Given the description of an element on the screen output the (x, y) to click on. 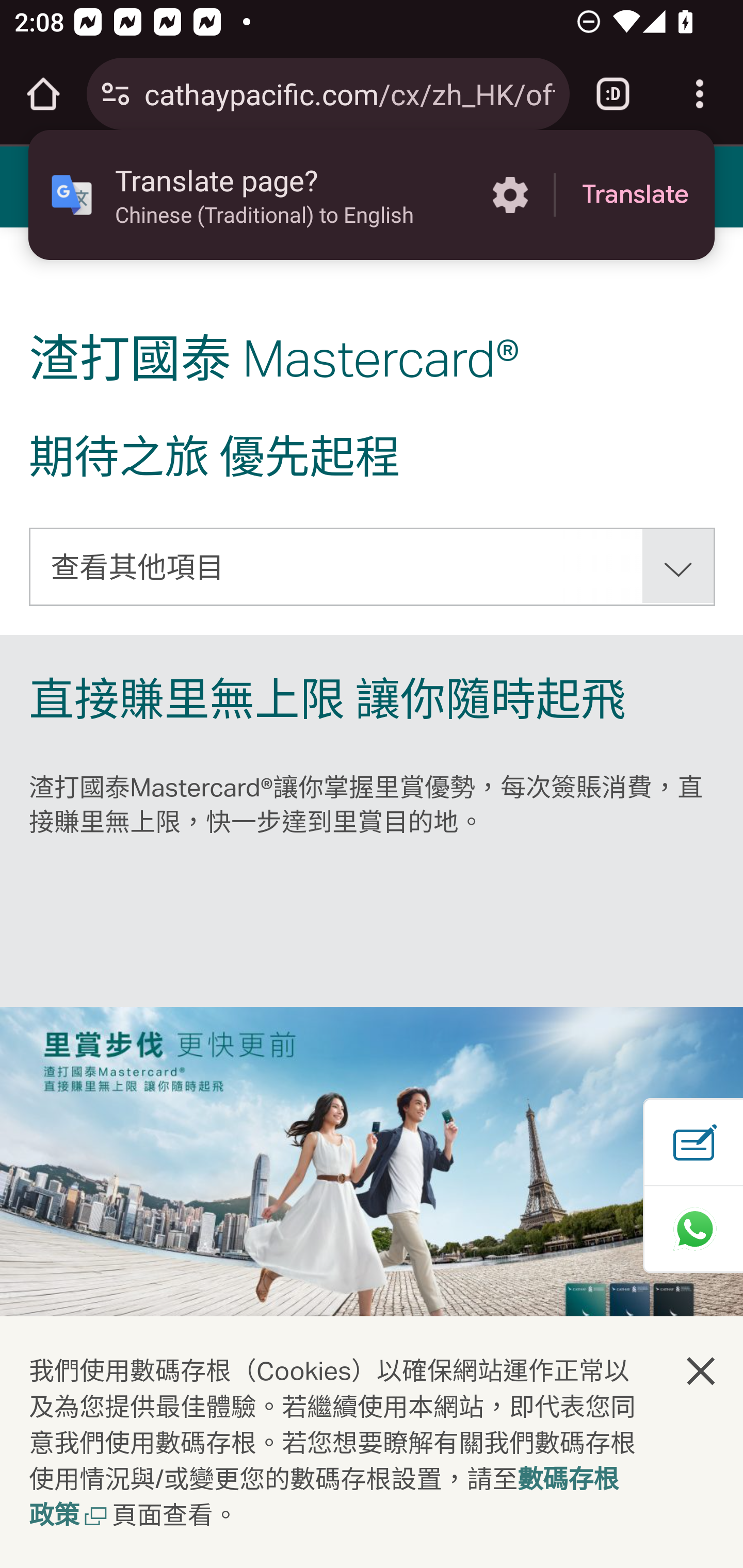
Open the home page (43, 93)
Connection is secure (115, 93)
Switch or close tabs (612, 93)
Customize and control Google Chrome (699, 93)
Translate (634, 195)
功能表 (47, 186)
More options in the Translate page? (509, 195)
查看其他項目 (372, 566)
關閉 (701, 1370)
數碼存根政策, 在新窗口中打开 數碼存根政策 開啟新視窗 (323, 1498)
